Given the description of an element on the screen output the (x, y) to click on. 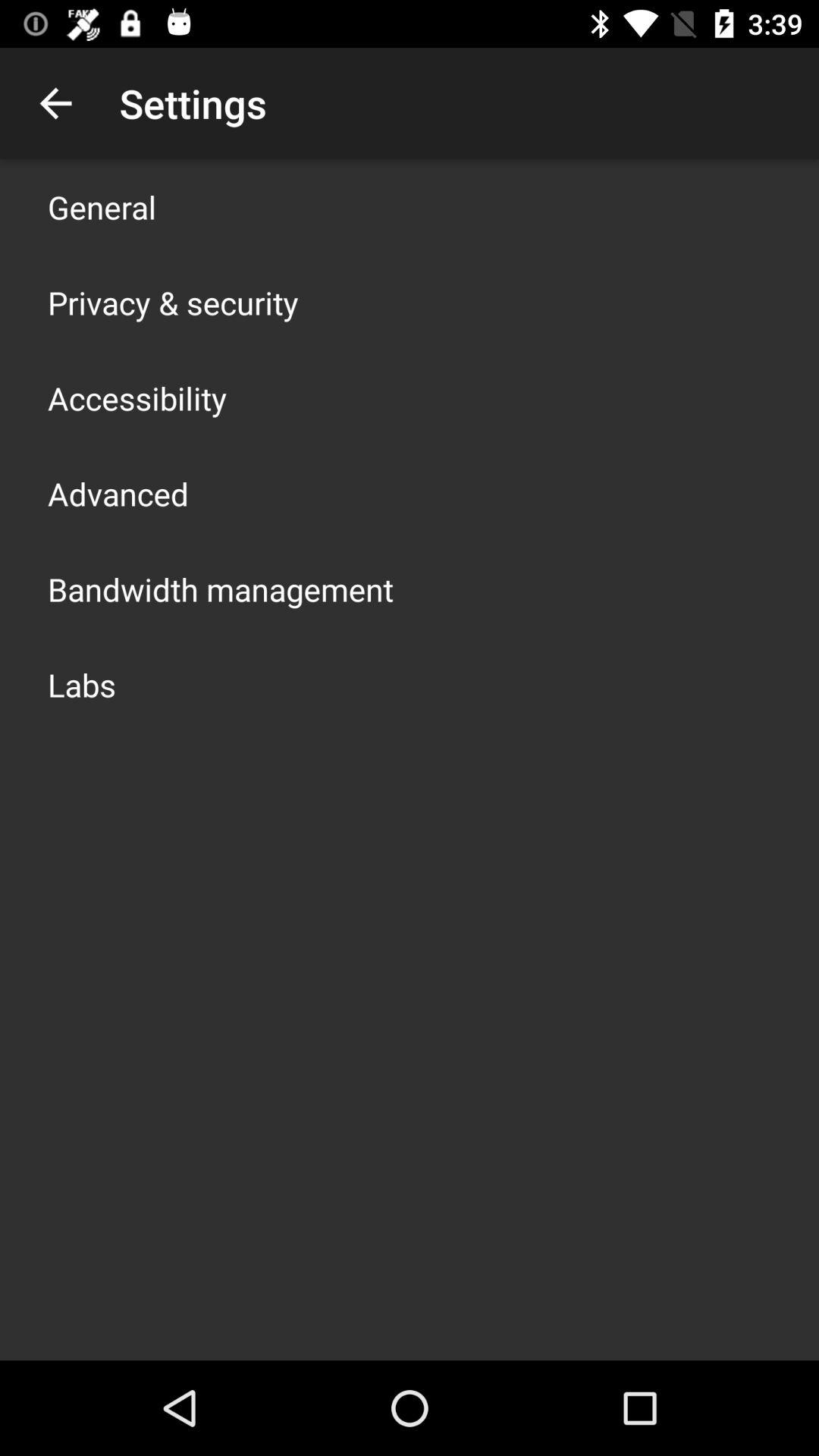
click icon below the bandwidth management (81, 684)
